Given the description of an element on the screen output the (x, y) to click on. 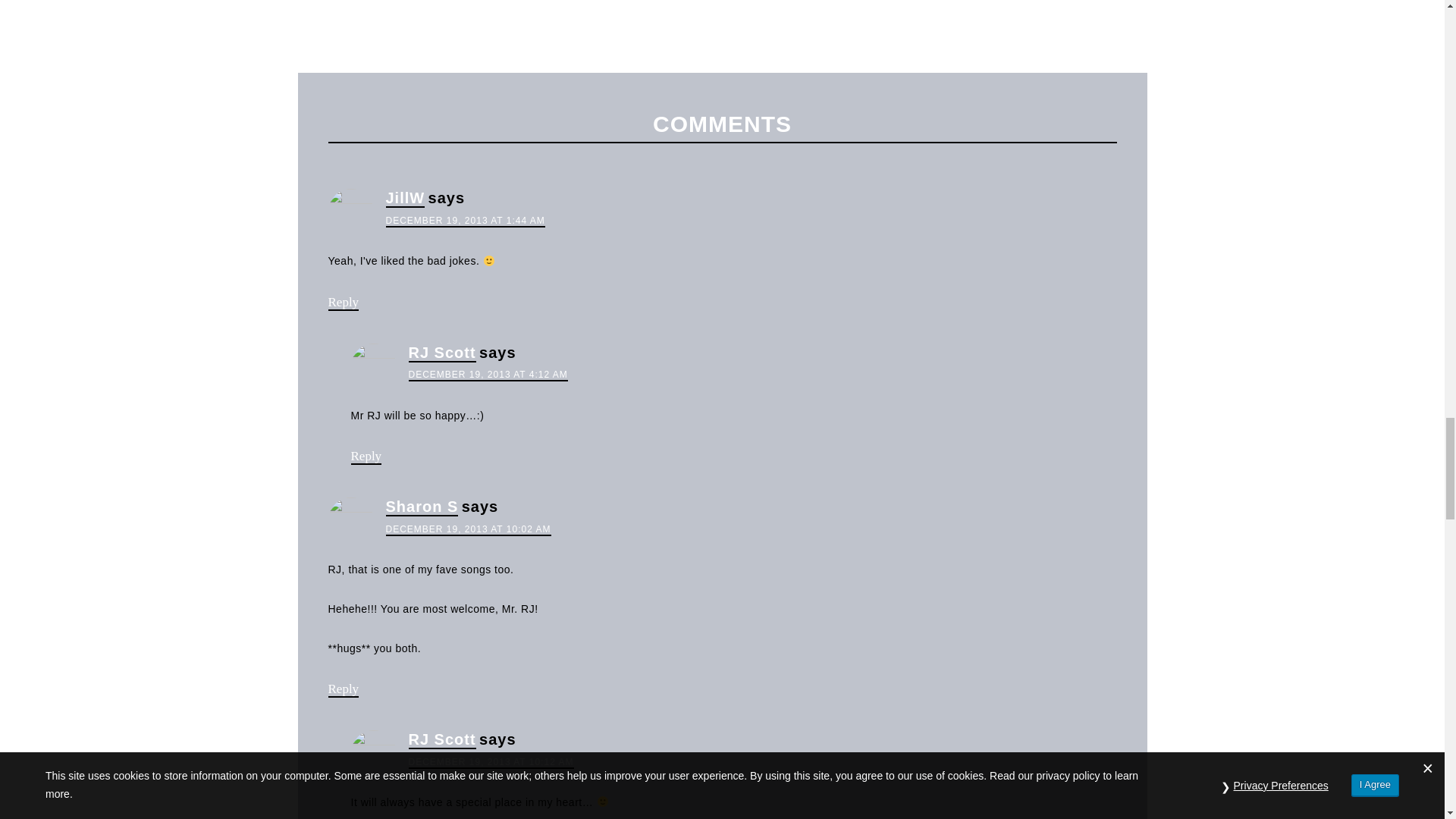
RJ Scott (441, 352)
DECEMBER 19, 2013 AT 10:12 AM (490, 762)
Reply (365, 456)
JillW (405, 198)
DECEMBER 19, 2013 AT 4:12 AM (487, 375)
Reply (342, 689)
Reply (342, 302)
DECEMBER 19, 2013 AT 1:44 AM (464, 221)
DECEMBER 19, 2013 AT 10:02 AM (467, 530)
Sharon S (421, 506)
